Given the description of an element on the screen output the (x, y) to click on. 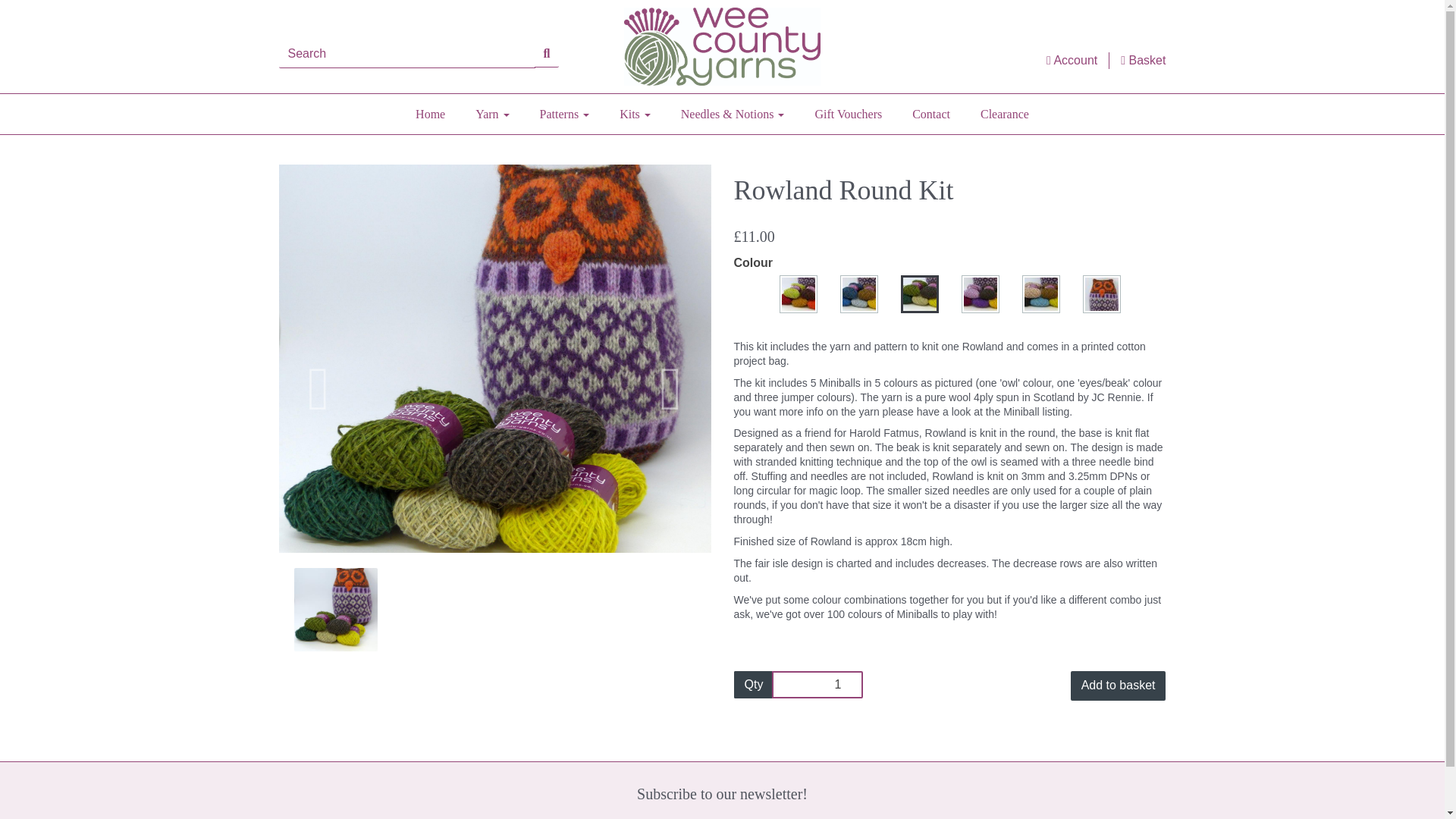
Patterns (564, 114)
Home (430, 114)
Basket (1142, 60)
Account (1072, 60)
Kits (634, 114)
Yarn (492, 114)
1 (817, 684)
